Given the description of an element on the screen output the (x, y) to click on. 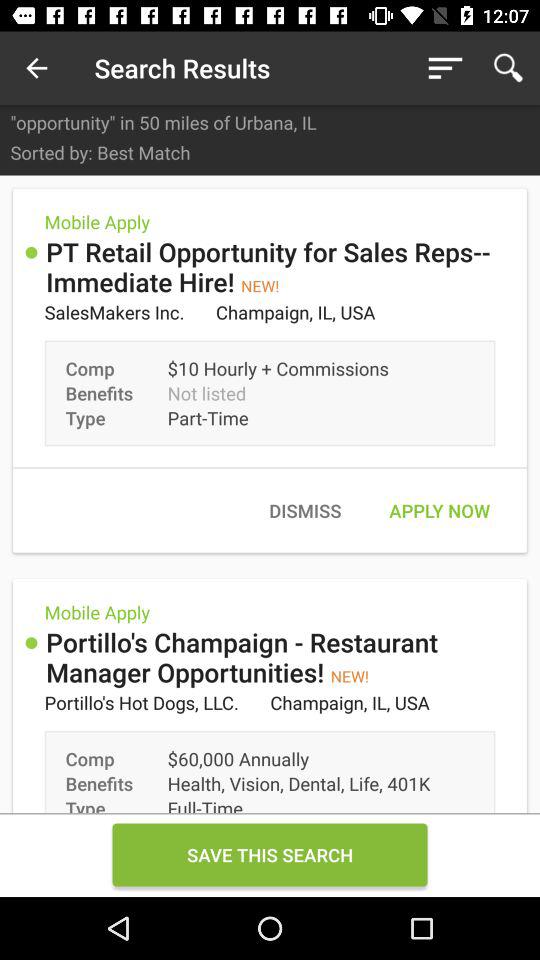
select the item above the opportunity in 50 item (36, 68)
